Given the description of an element on the screen output the (x, y) to click on. 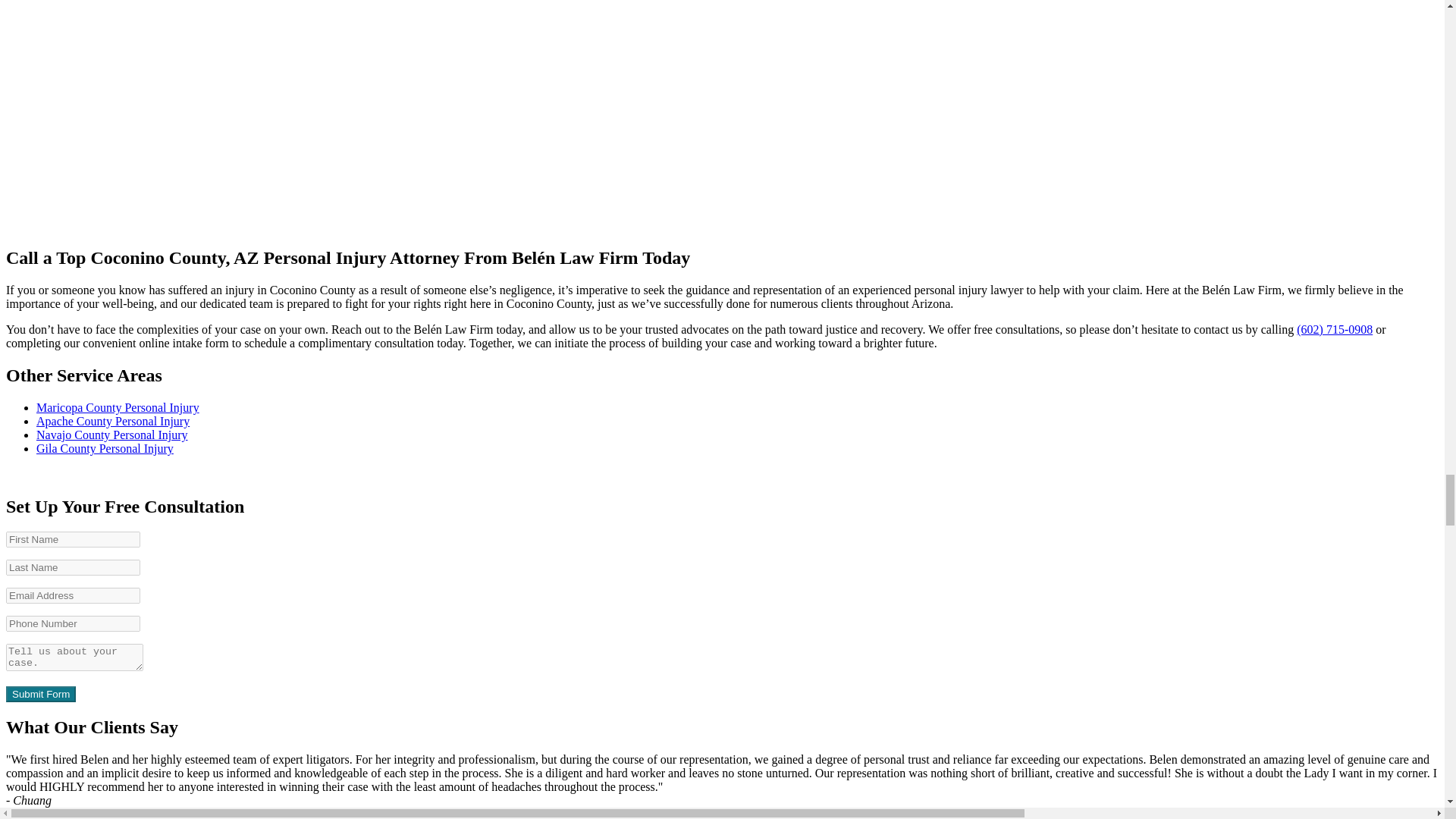
Submit Form (40, 693)
